Given the description of an element on the screen output the (x, y) to click on. 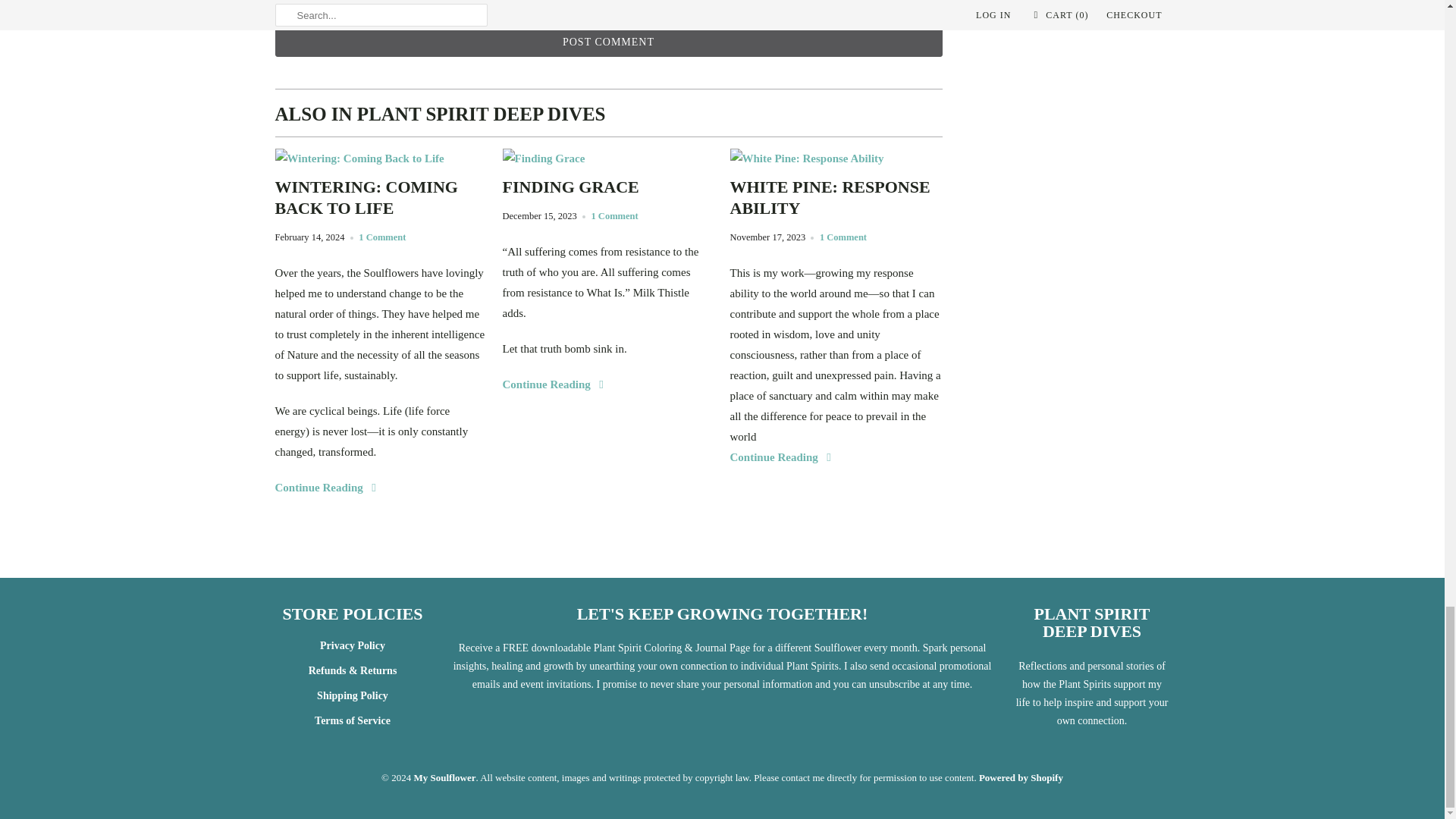
White Pine: Response Ability (835, 197)
WHITE PINE: RESPONSE ABILITY (835, 197)
Continue Reading (554, 384)
WINTERING: COMING BACK TO LIFE (380, 197)
White Pine: Response Ability (806, 158)
Finding Grace (554, 384)
Continue Reading (326, 487)
Finding Grace (543, 158)
FINDING GRACE (608, 187)
1 Comment (382, 236)
